Given the description of an element on the screen output the (x, y) to click on. 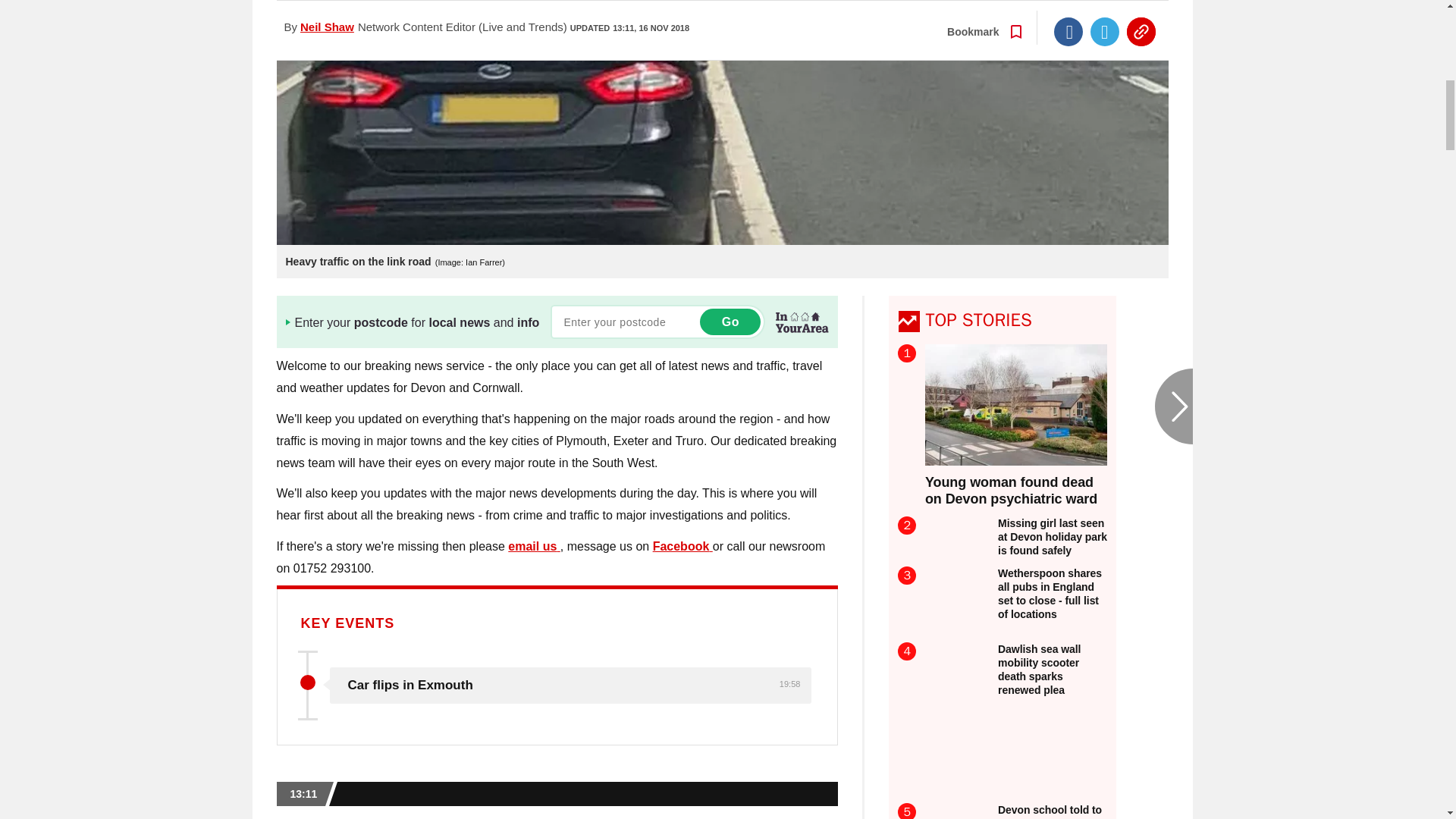
Go (730, 321)
